Given the description of an element on the screen output the (x, y) to click on. 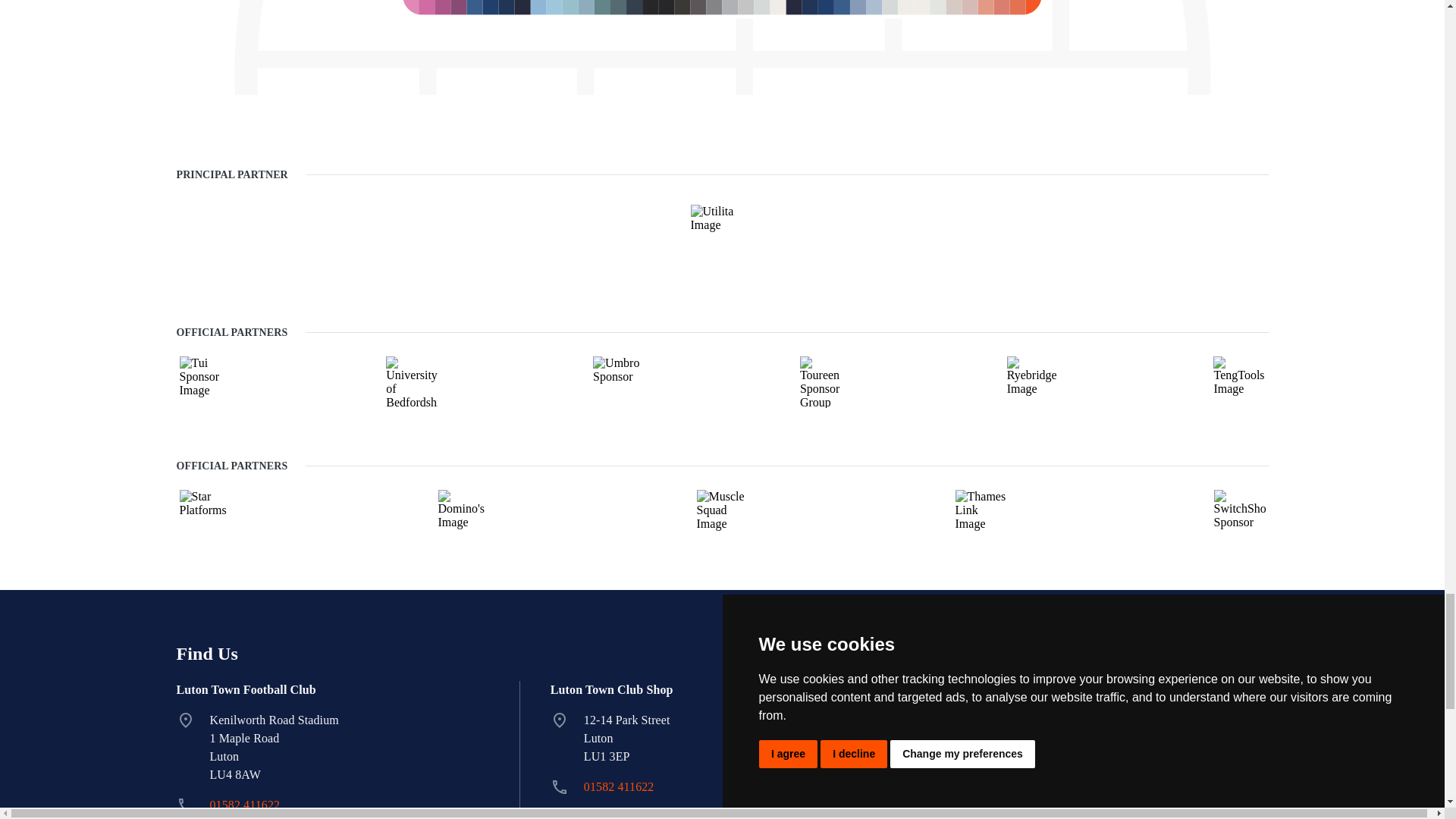
01582 411622 (244, 804)
01582 411622 (618, 786)
01582 411622 (618, 786)
01582 411622 (244, 804)
